Given the description of an element on the screen output the (x, y) to click on. 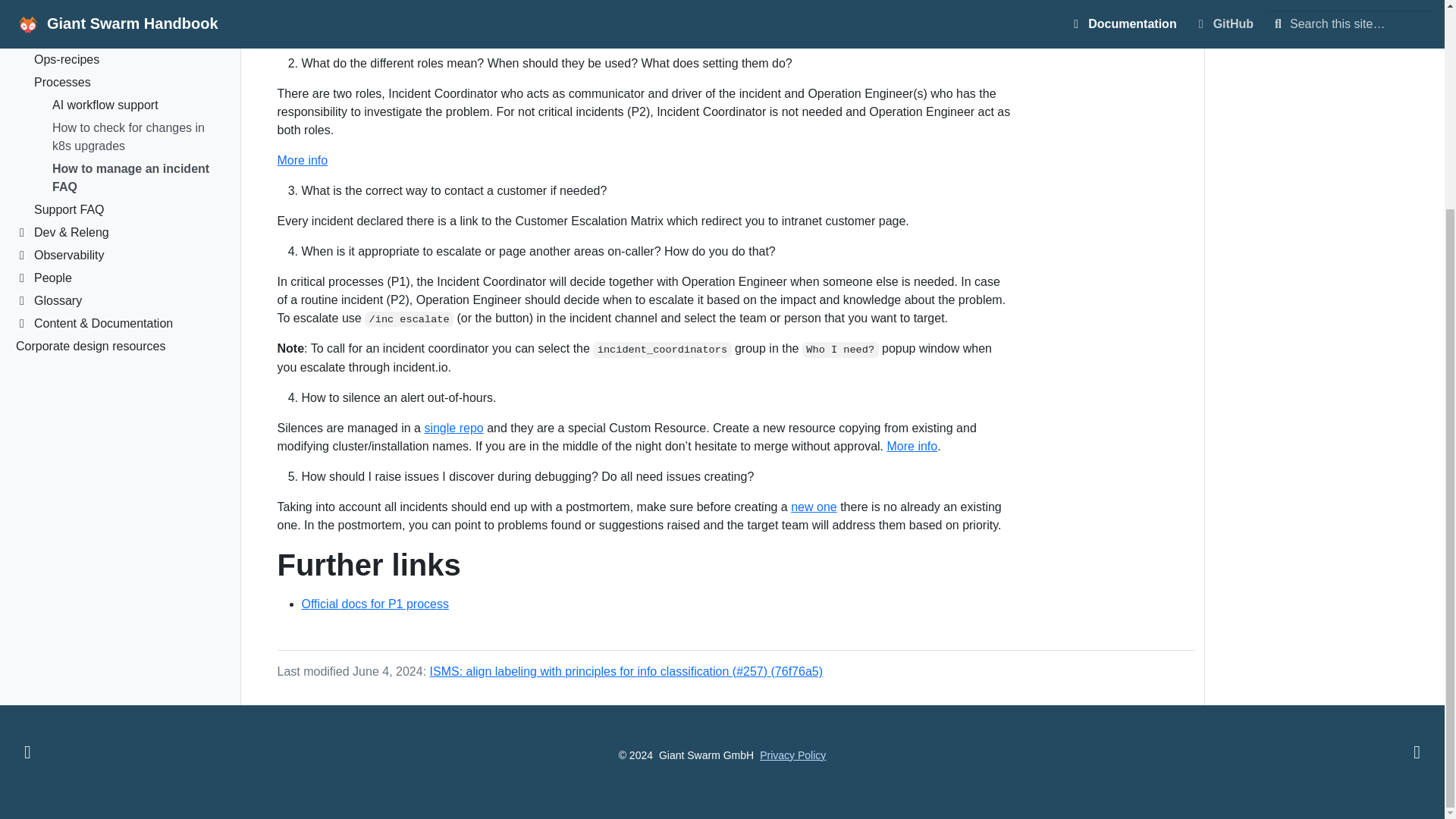
Development and release engineering (118, 77)
How to check for changes in k8s upgrades (136, 1)
Support FAQ (127, 54)
How to manage an incident FAQ (136, 22)
